Given the description of an element on the screen output the (x, y) to click on. 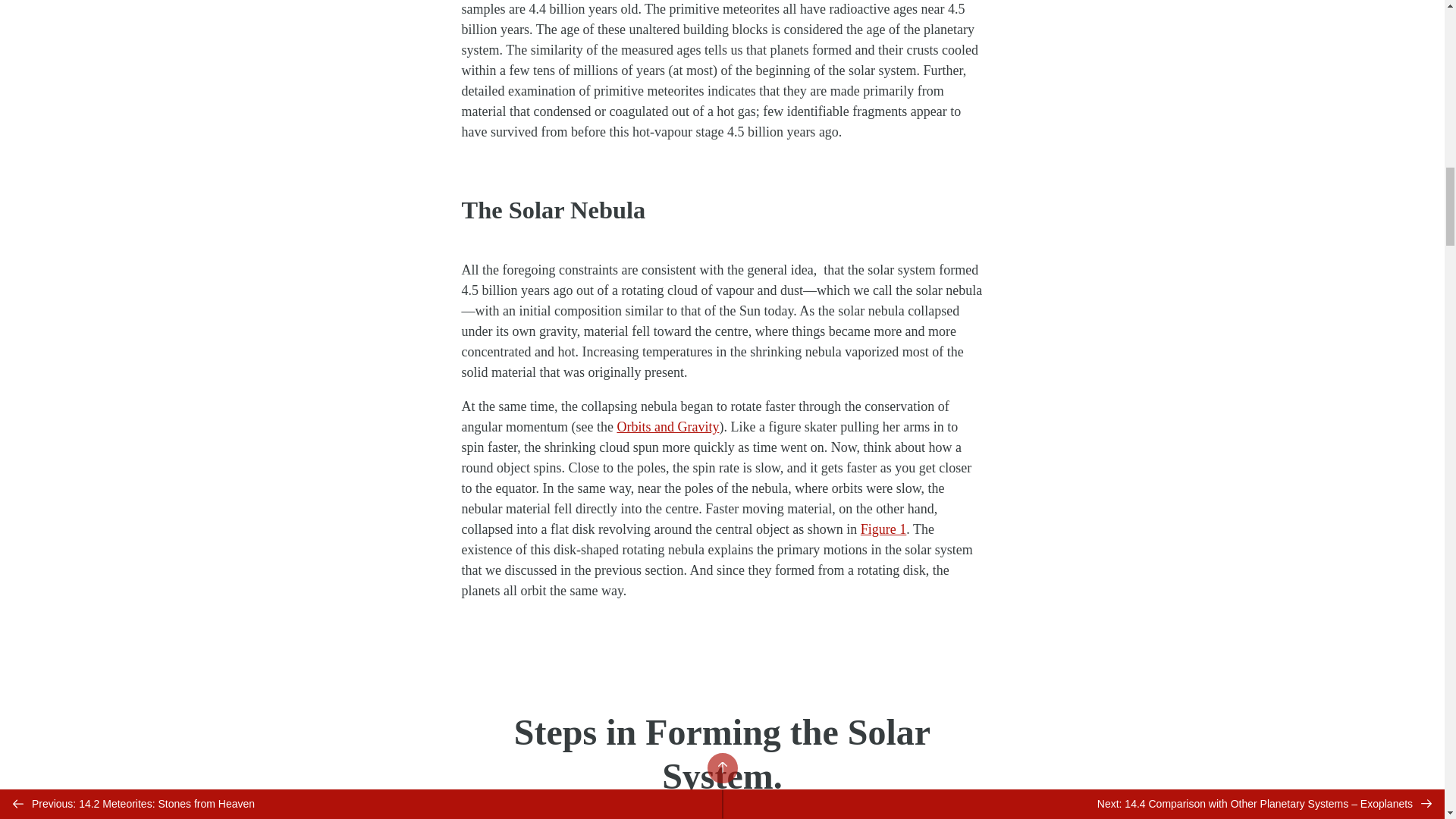
Orbits and Gravity (667, 426)
Figure 1 (883, 529)
